Given the description of an element on the screen output the (x, y) to click on. 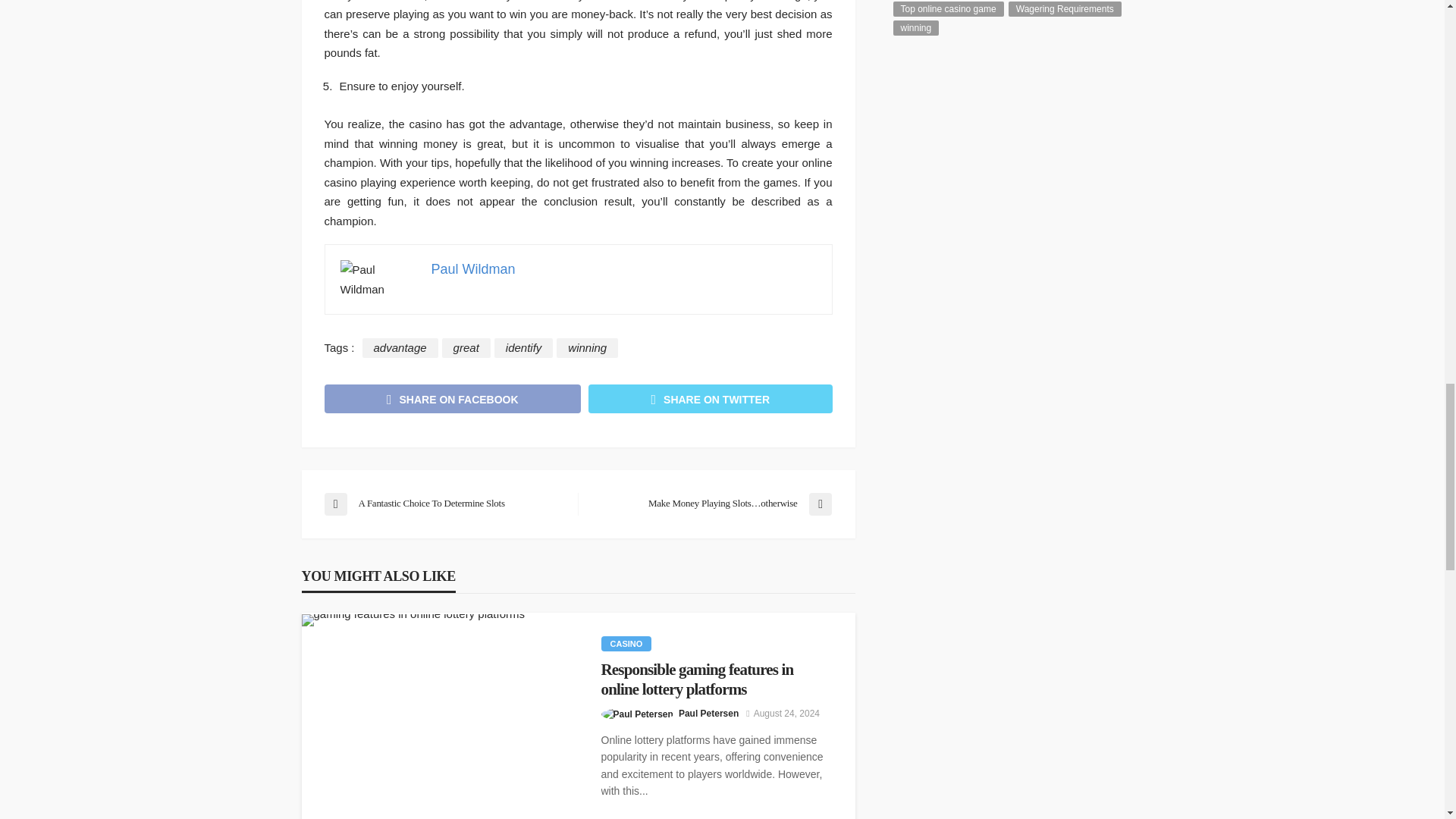
CASINO (624, 643)
identify (524, 347)
winning (586, 347)
A Fantastic Choice To Determine Slots (443, 504)
SHARE ON FACEBOOK (452, 398)
Paul Wildman (472, 268)
Paul Petersen (708, 713)
winning (586, 347)
identify (524, 347)
great (466, 347)
